Given the description of an element on the screen output the (x, y) to click on. 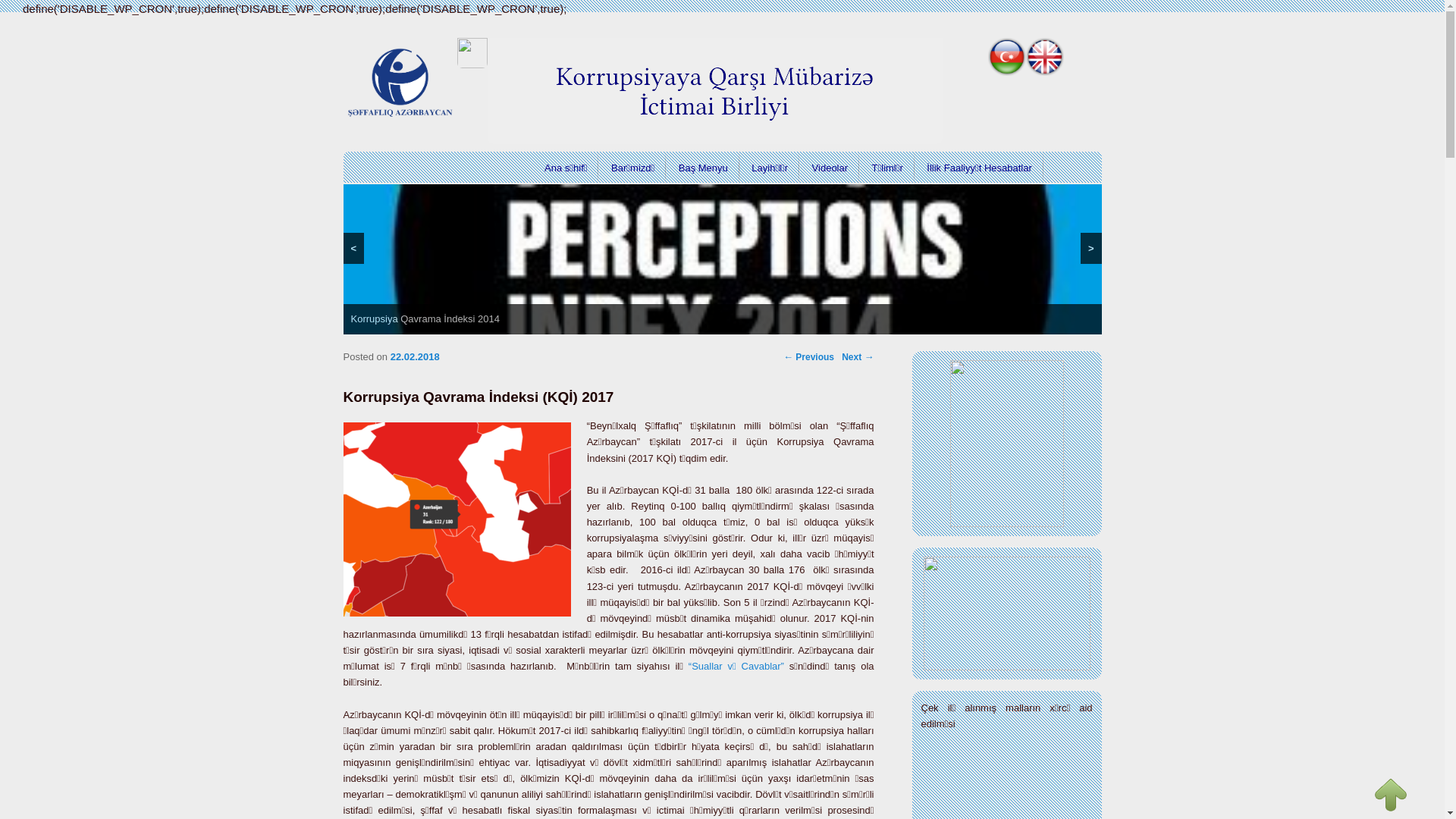
Skip to secondary content Element type: text (1077, 200)
Search Element type: text (20, 10)
Videolar Element type: text (829, 167)
> Element type: text (1090, 247)
< Element type: text (353, 247)
Skip to primary content Element type: text (1072, 200)
22.02.2018 Element type: text (414, 356)
